Given the description of an element on the screen output the (x, y) to click on. 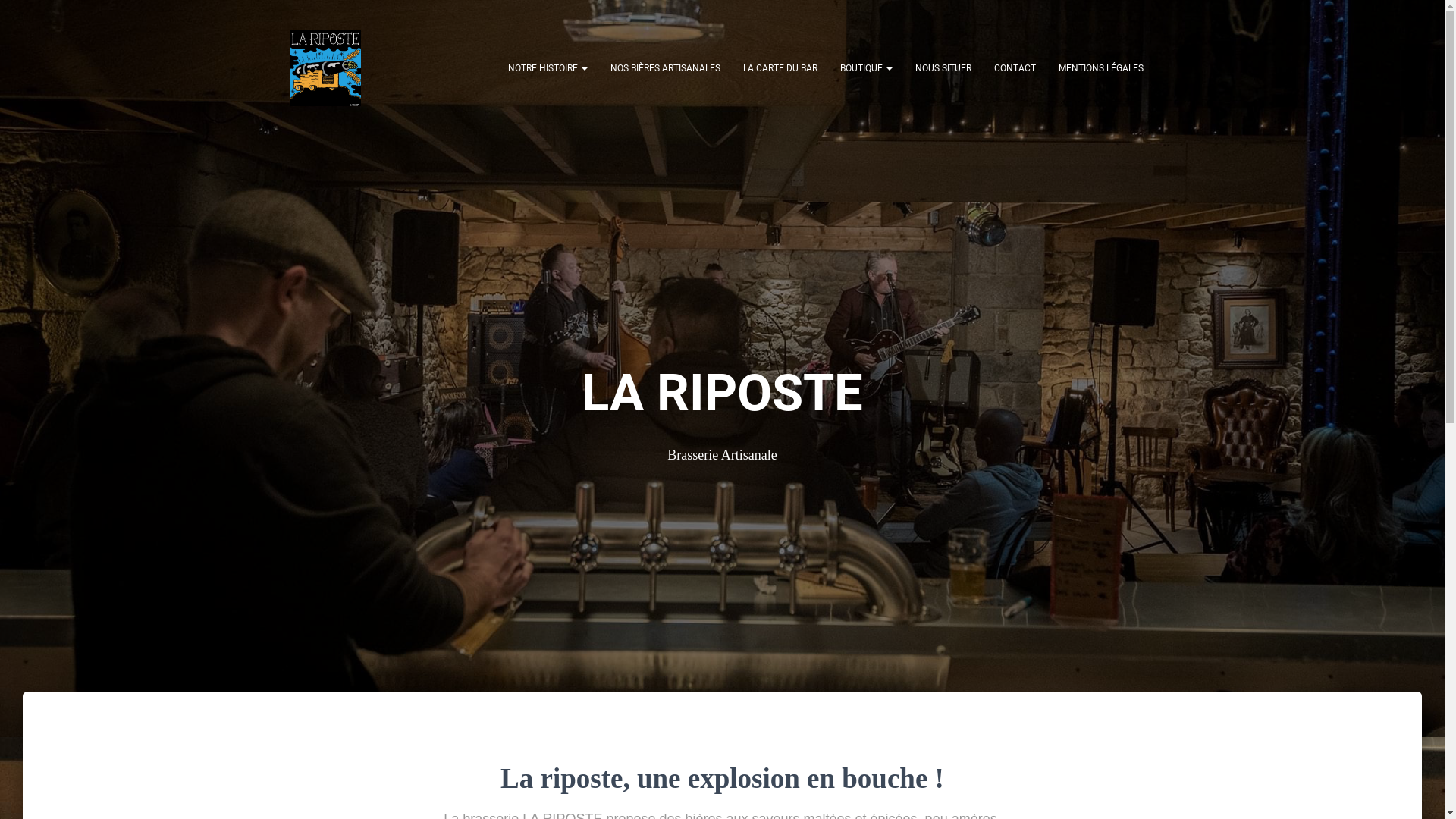
NOTRE HISTOIRE Element type: text (546, 68)
Brasserie la riposte Element type: hover (325, 67)
BOUTIQUE Element type: text (865, 68)
CONTACT Element type: text (1014, 68)
LA CARTE DU BAR Element type: text (779, 68)
NOUS SITUER Element type: text (942, 68)
